Given the description of an element on the screen output the (x, y) to click on. 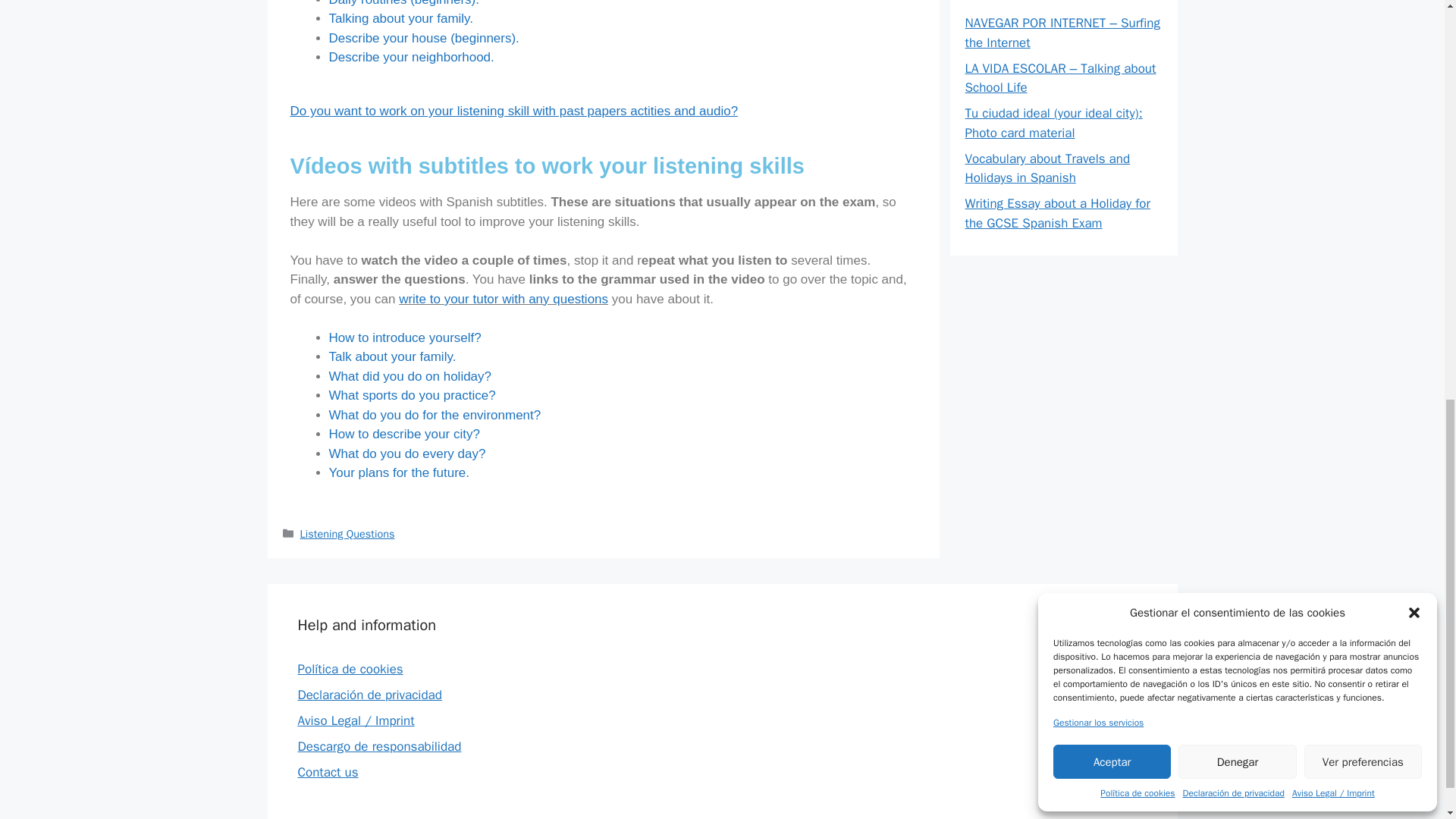
Talking about your family. (401, 18)
What do you do for the environment? (435, 414)
write to your tutor with any questions (503, 298)
What did you do on holiday? (410, 376)
How to introduce yourself? (405, 337)
Listening Questions (346, 533)
What do you do every day? (407, 453)
What sports do you practice? (412, 395)
Talk about your family. (393, 356)
